Given the description of an element on the screen output the (x, y) to click on. 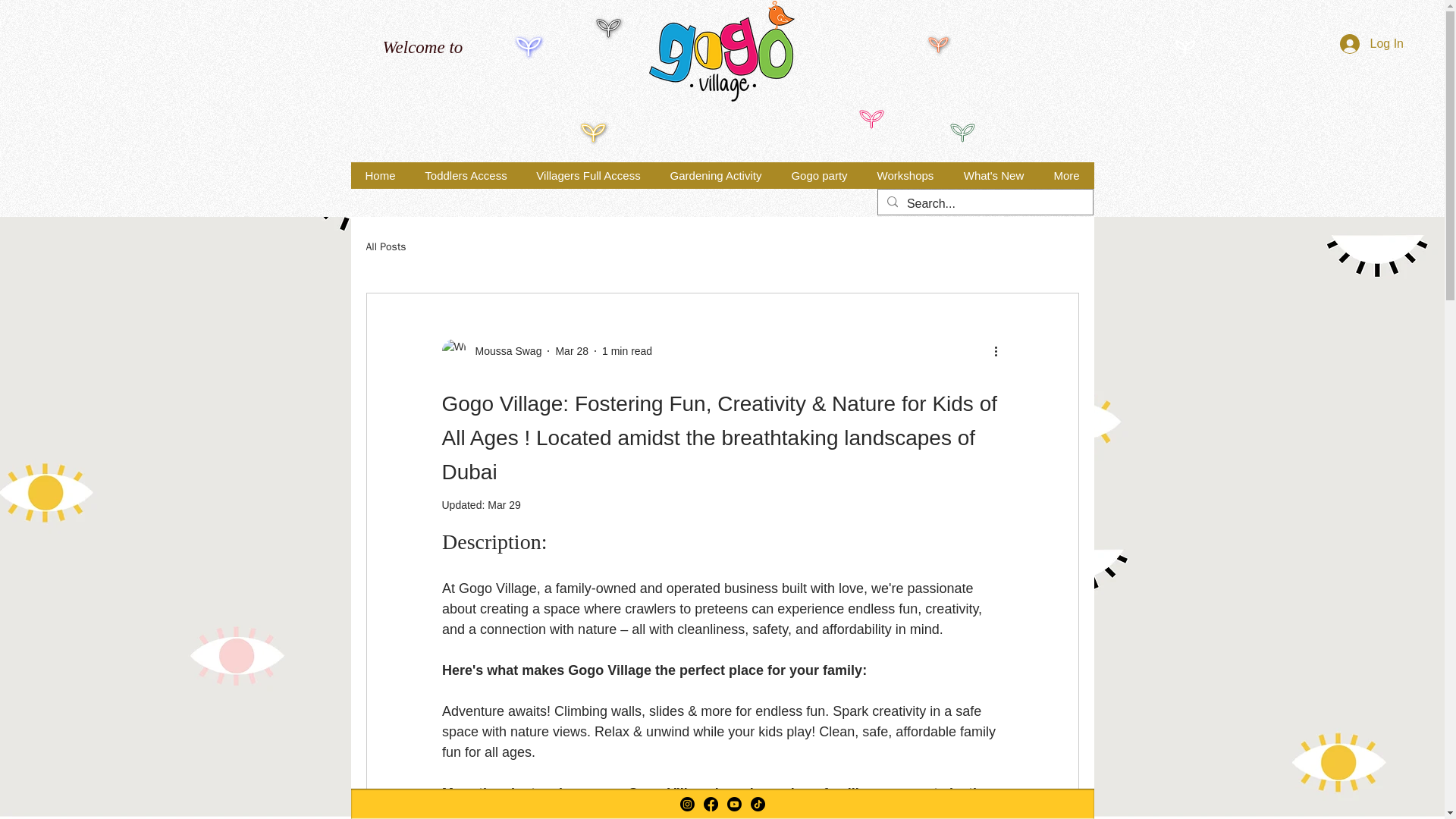
Log In (1371, 43)
Mar 28 (571, 349)
Moussa Swag (491, 351)
Mar 29 (504, 504)
Home (379, 175)
Toddlers Access (465, 175)
What's New (992, 175)
All Posts (385, 246)
Workshops (904, 175)
Villagers Full Access (588, 175)
